Given the description of an element on the screen output the (x, y) to click on. 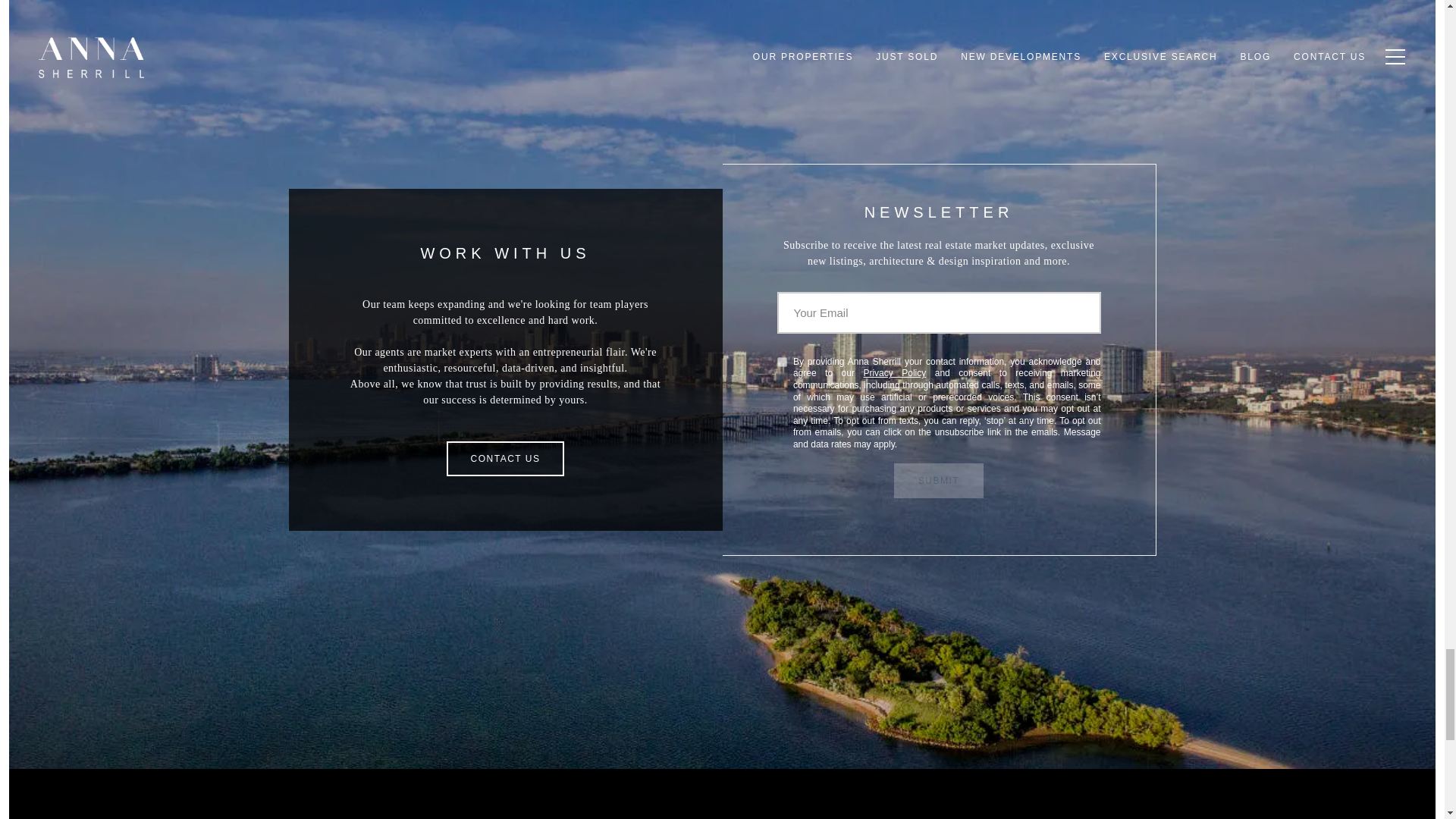
on (781, 361)
Privacy Policy (894, 372)
SUBMIT (938, 480)
CONTACT US (505, 458)
